Given the description of an element on the screen output the (x, y) to click on. 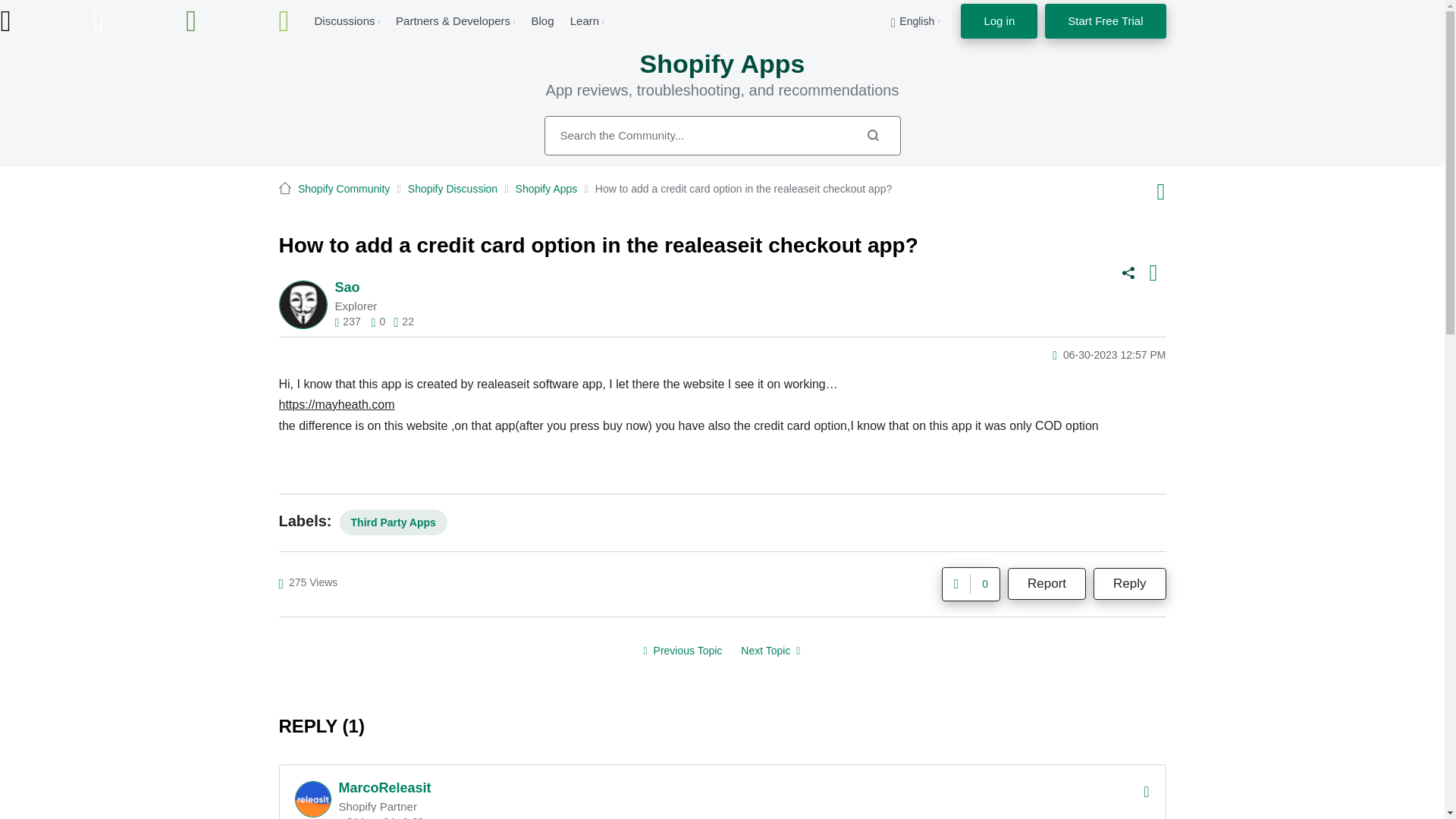
Search (722, 135)
Search (872, 135)
Discussions (344, 20)
Search (872, 135)
